Given the description of an element on the screen output the (x, y) to click on. 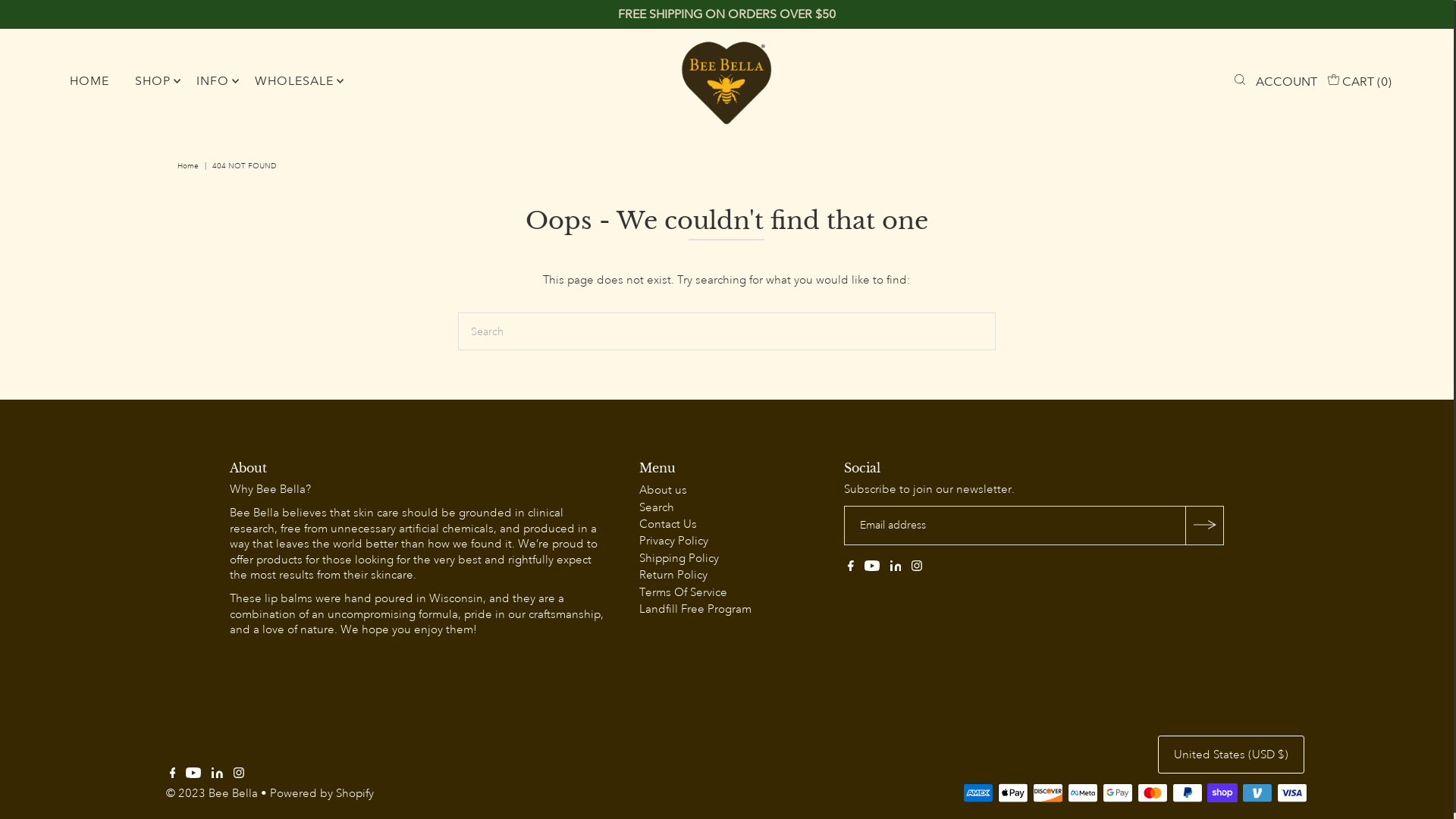
Search Element type: text (656, 507)
Powered by Shopify Element type: text (321, 793)
Contact Us Element type: text (667, 524)
Privacy Policy Element type: text (673, 540)
Home Element type: text (189, 165)
INFO Element type: text (212, 80)
Terms Of Service Element type: text (683, 592)
SHOP Element type: text (152, 80)
Return Policy Element type: text (673, 574)
Shipping Policy Element type: text (678, 558)
United States (USD $) Element type: text (1230, 754)
WHOLESALE Element type: text (294, 80)
HOME Element type: text (89, 80)
Landfill Free Program Element type: text (695, 609)
ACCOUNT Element type: text (1286, 81)
About us Element type: text (663, 490)
